Given the description of an element on the screen output the (x, y) to click on. 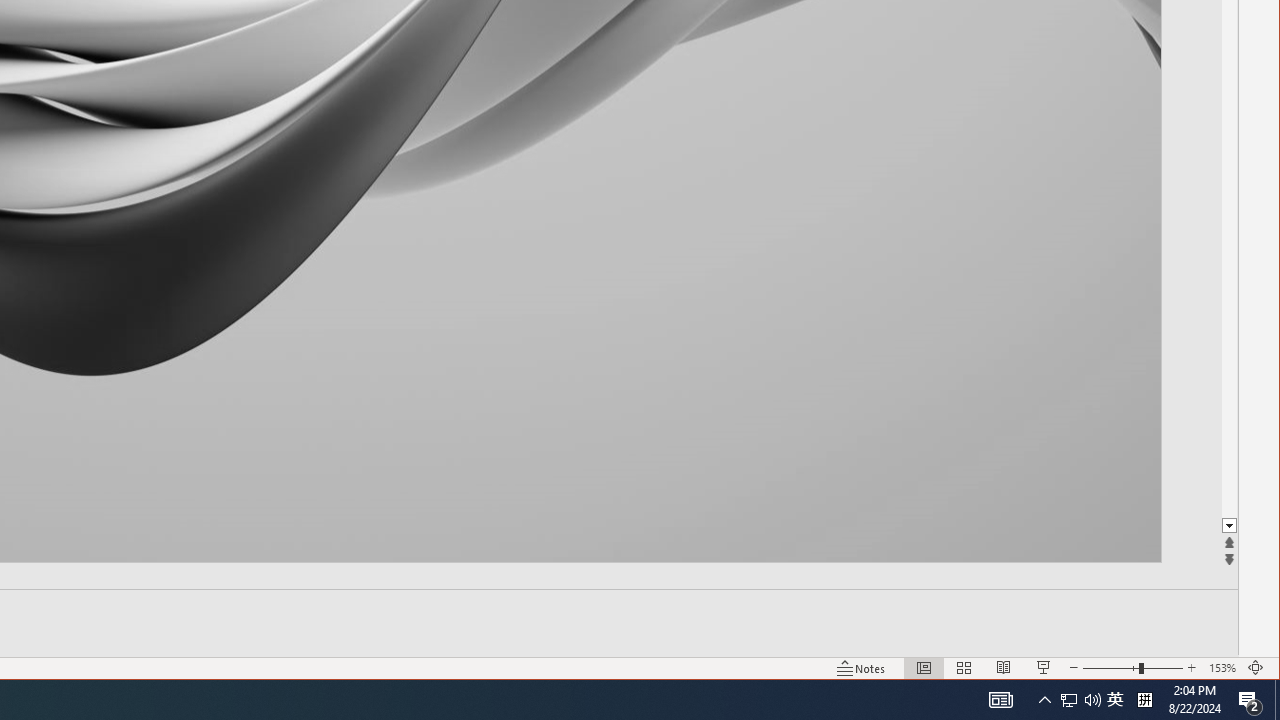
Zoom 153% (1222, 668)
